Given the description of an element on the screen output the (x, y) to click on. 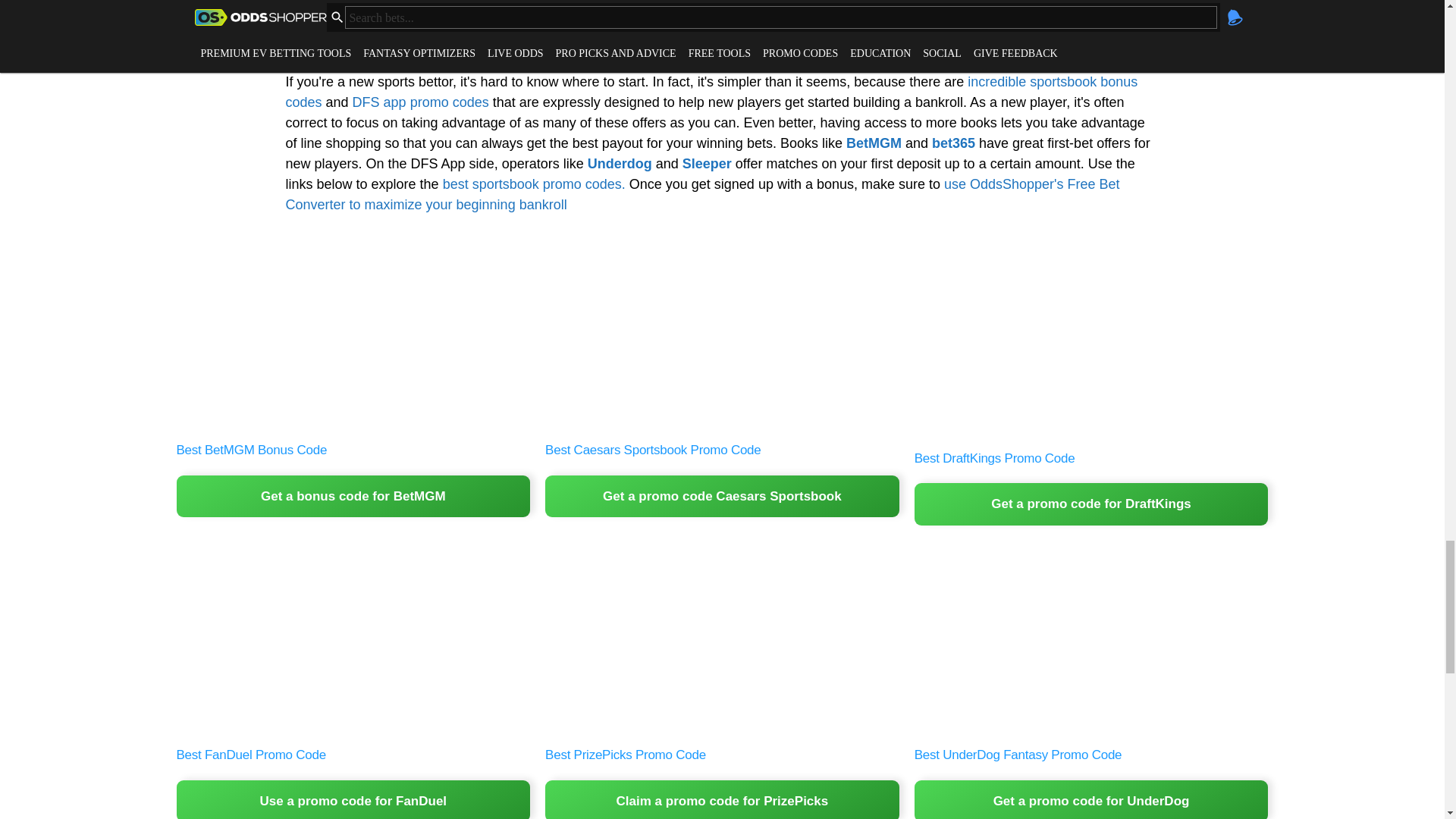
prizepicks-featured-link-share-image-1200x675-1 (721, 640)
